Given the description of an element on the screen output the (x, y) to click on. 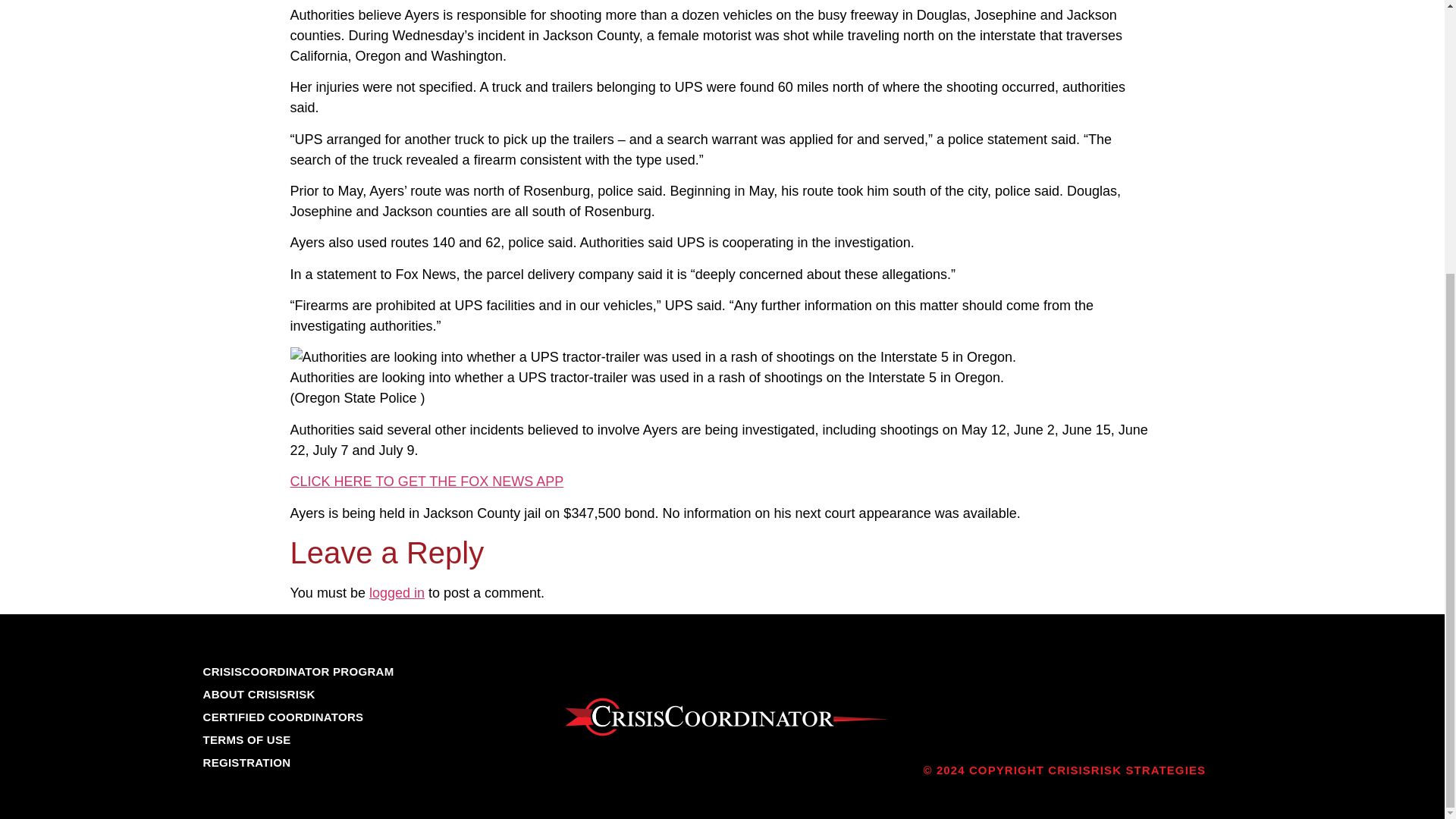
TERMS OF USE (247, 739)
CERTIFIED COORDINATORS (283, 716)
CLICK HERE TO GET THE FOX NEWS APP (426, 481)
CRISISCOORDINATOR PROGRAM (298, 671)
ABOUT CRISISRISK (259, 694)
REGISTRATION (247, 762)
logged in (397, 592)
